Given the description of an element on the screen output the (x, y) to click on. 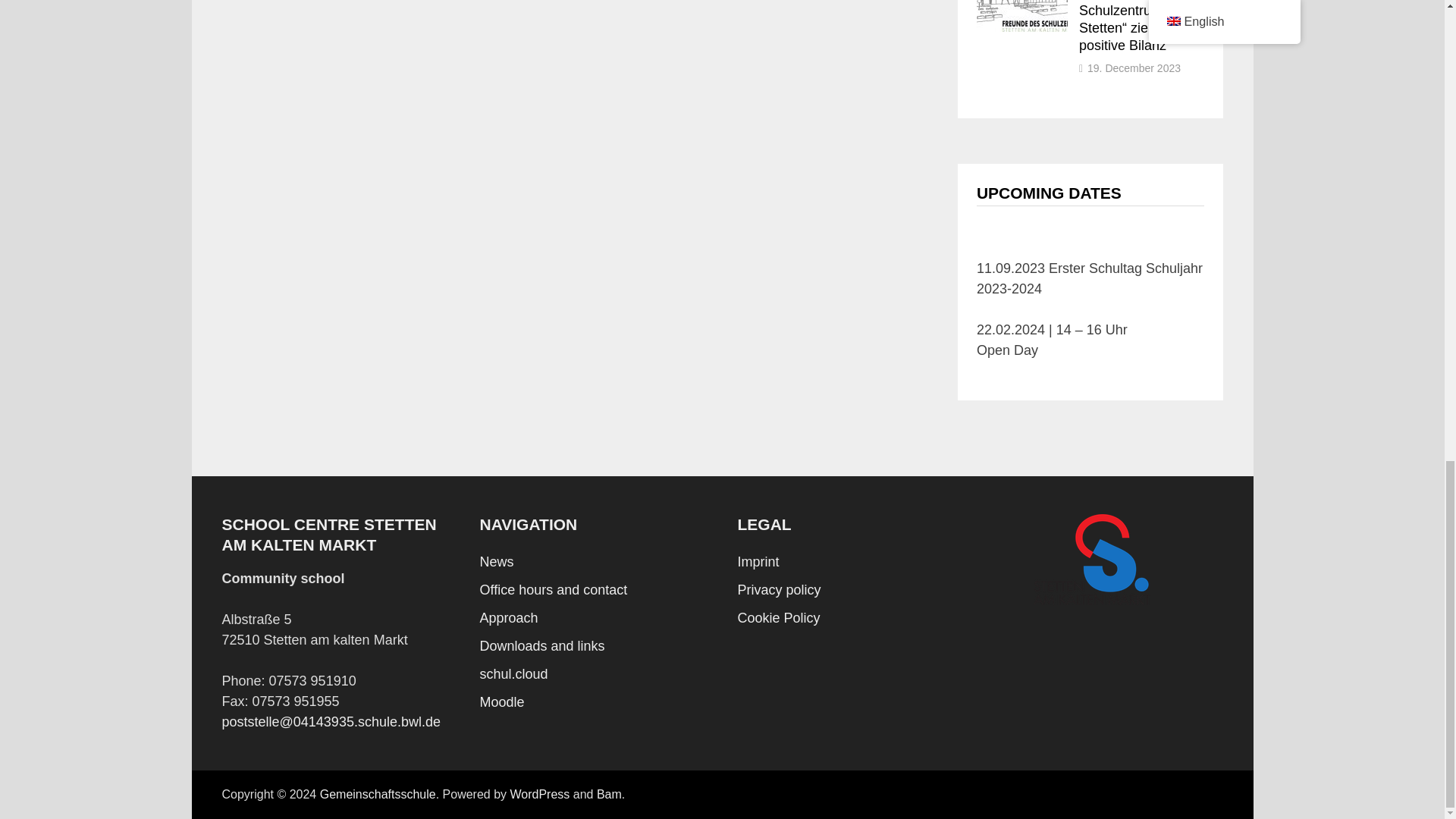
Gemeinschaftsschule (377, 793)
